Given the description of an element on the screen output the (x, y) to click on. 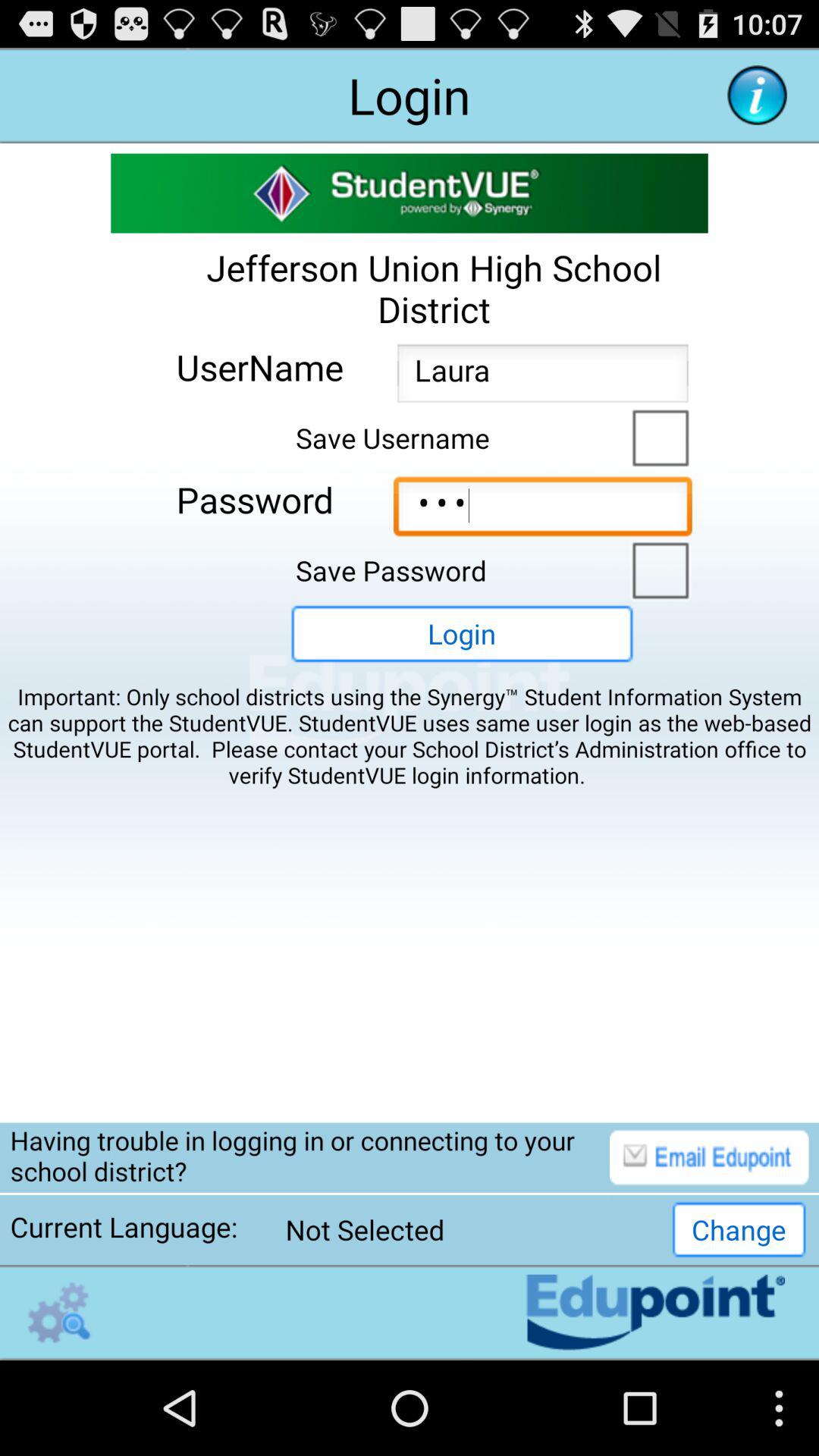
email trouble (708, 1157)
